Given the description of an element on the screen output the (x, y) to click on. 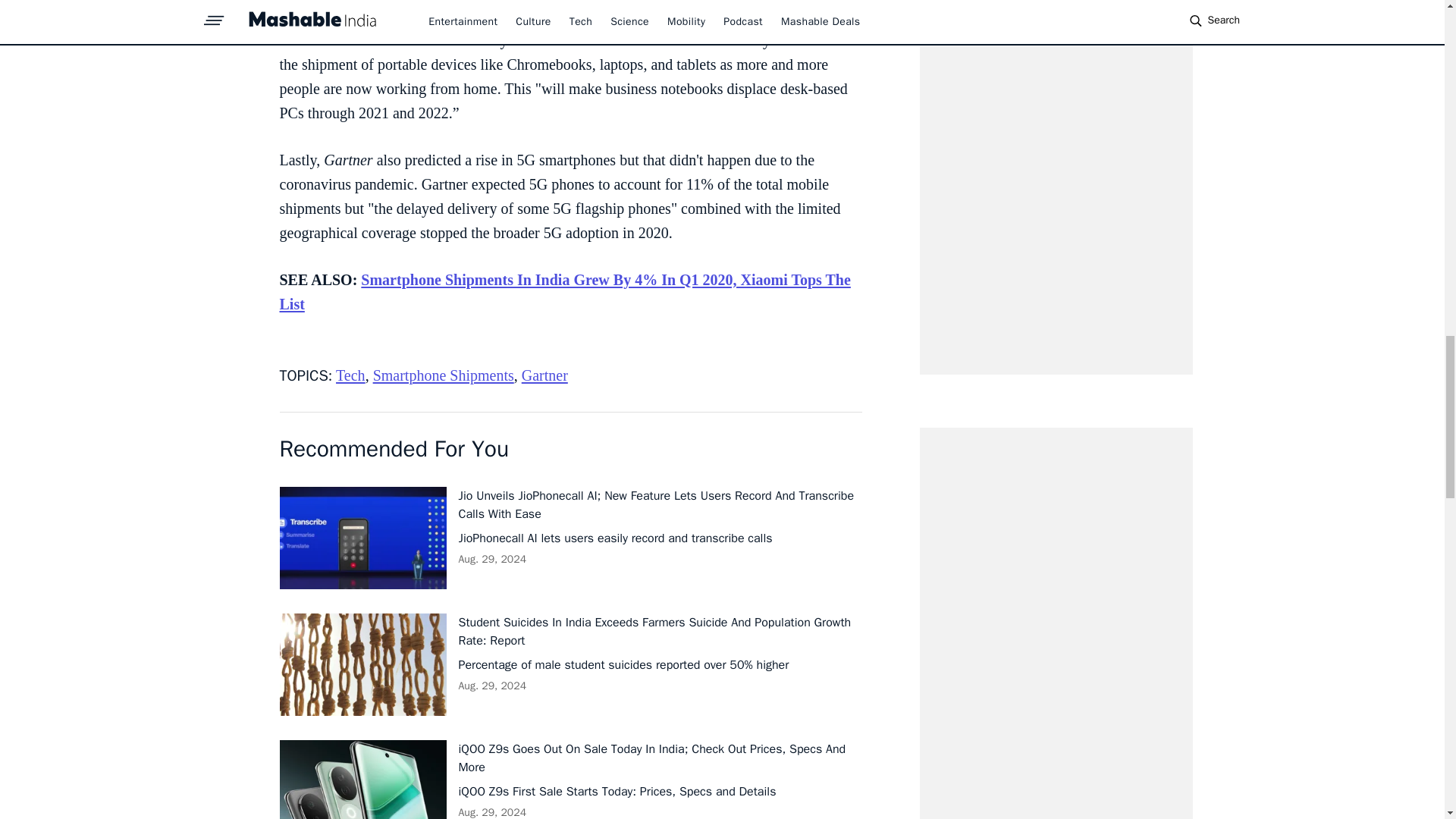
Tech (350, 375)
Gartner (544, 375)
Smartphone Shipments (442, 375)
